Given the description of an element on the screen output the (x, y) to click on. 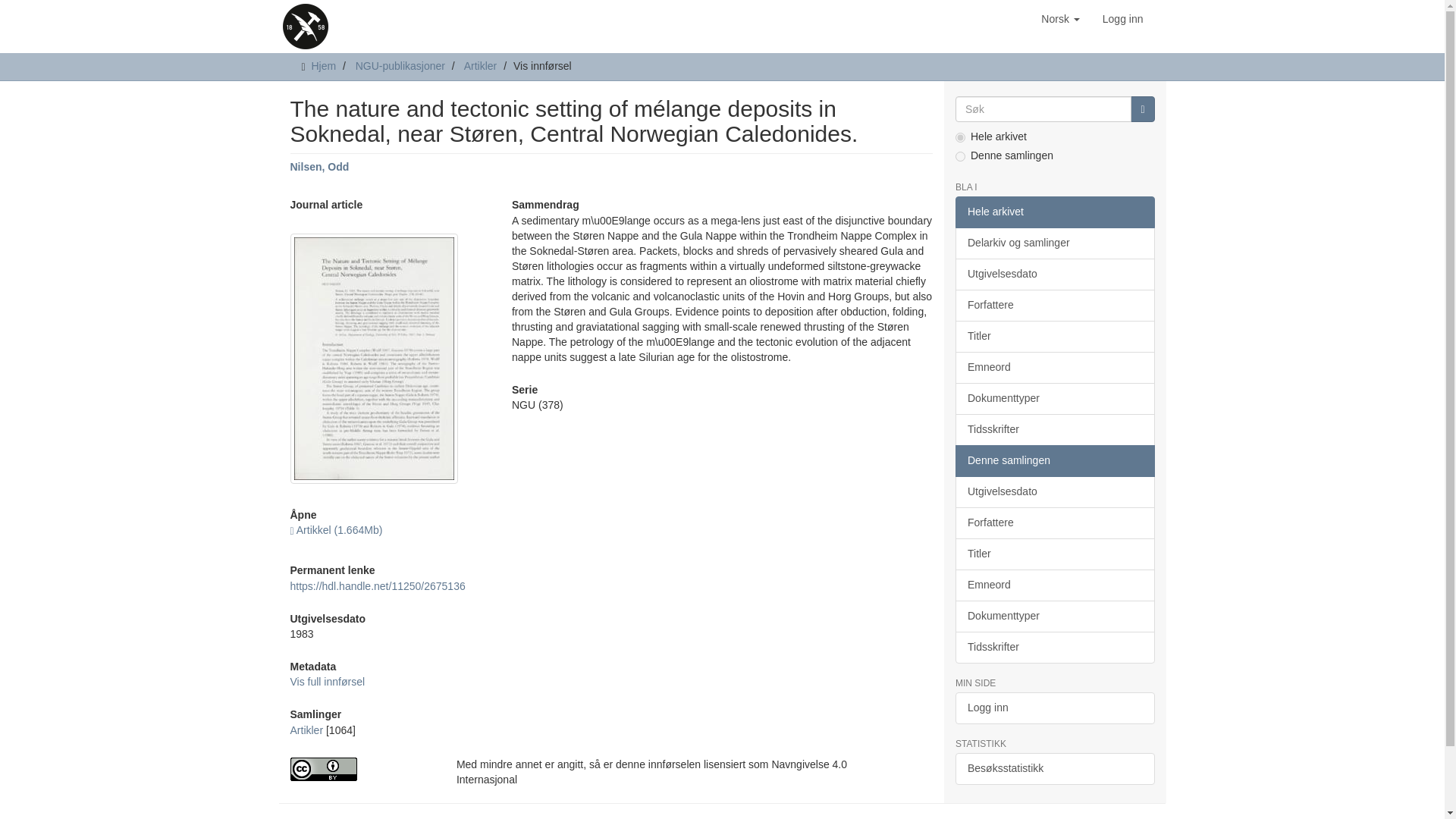
Delarkiv og samlinger (1054, 243)
Hjem (323, 65)
Nilsen, Odd (319, 166)
Hele arkivet (1054, 212)
Titler (1054, 336)
Navngivelse 4.0 Internasjonal (360, 769)
Norsk  (1059, 18)
Dokumenttyper (1054, 398)
Forfattere (1054, 305)
Utgivelsesdato (1054, 274)
Artikler (306, 729)
Artikler (480, 65)
Emneord (1054, 368)
NGU-publikasjoner (400, 65)
Logg inn (1122, 18)
